Given the description of an element on the screen output the (x, y) to click on. 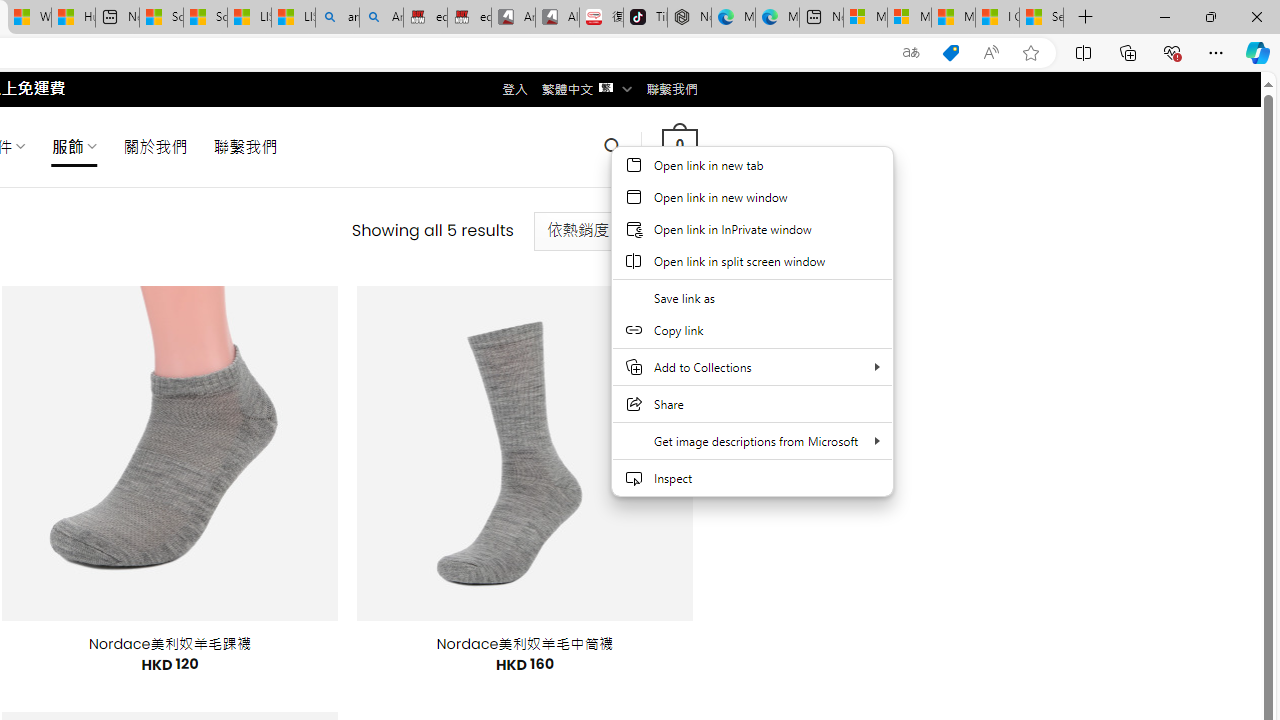
Nordace - Best Sellers (689, 17)
Open link in new window (752, 196)
